Given the description of an element on the screen output the (x, y) to click on. 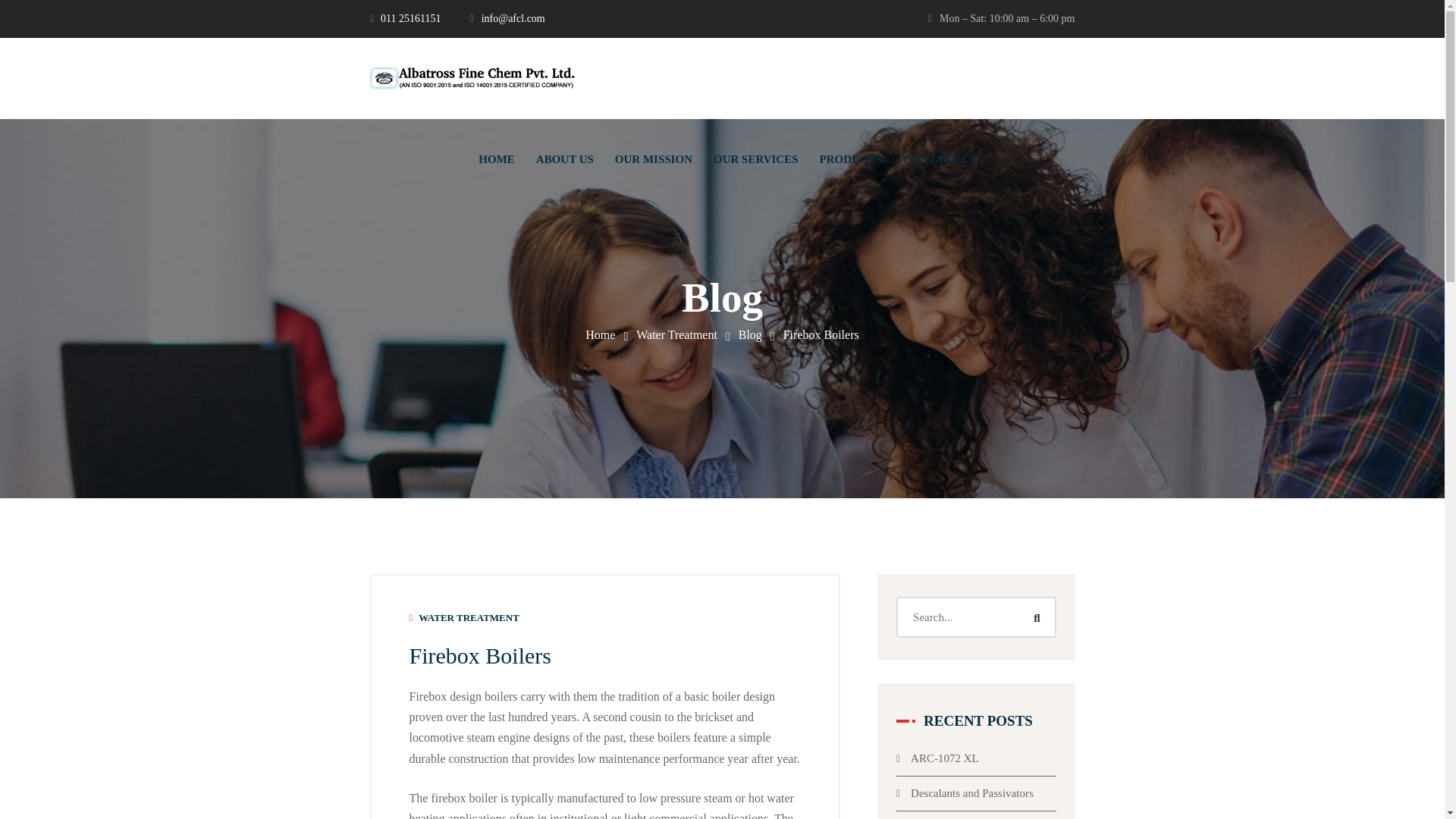
Albartross FIne Chemicals Pvt. Ltd. (472, 78)
CONTACT US (939, 158)
Albartross FIne Chemicals Pvt. Ltd. (599, 334)
Water Treatment (676, 334)
Blog (749, 334)
Home (599, 334)
View all posts in Water Treatment (469, 617)
Water Treatment (676, 334)
OUR SERVICES (755, 158)
OUR MISSION (653, 158)
